Given the description of an element on the screen output the (x, y) to click on. 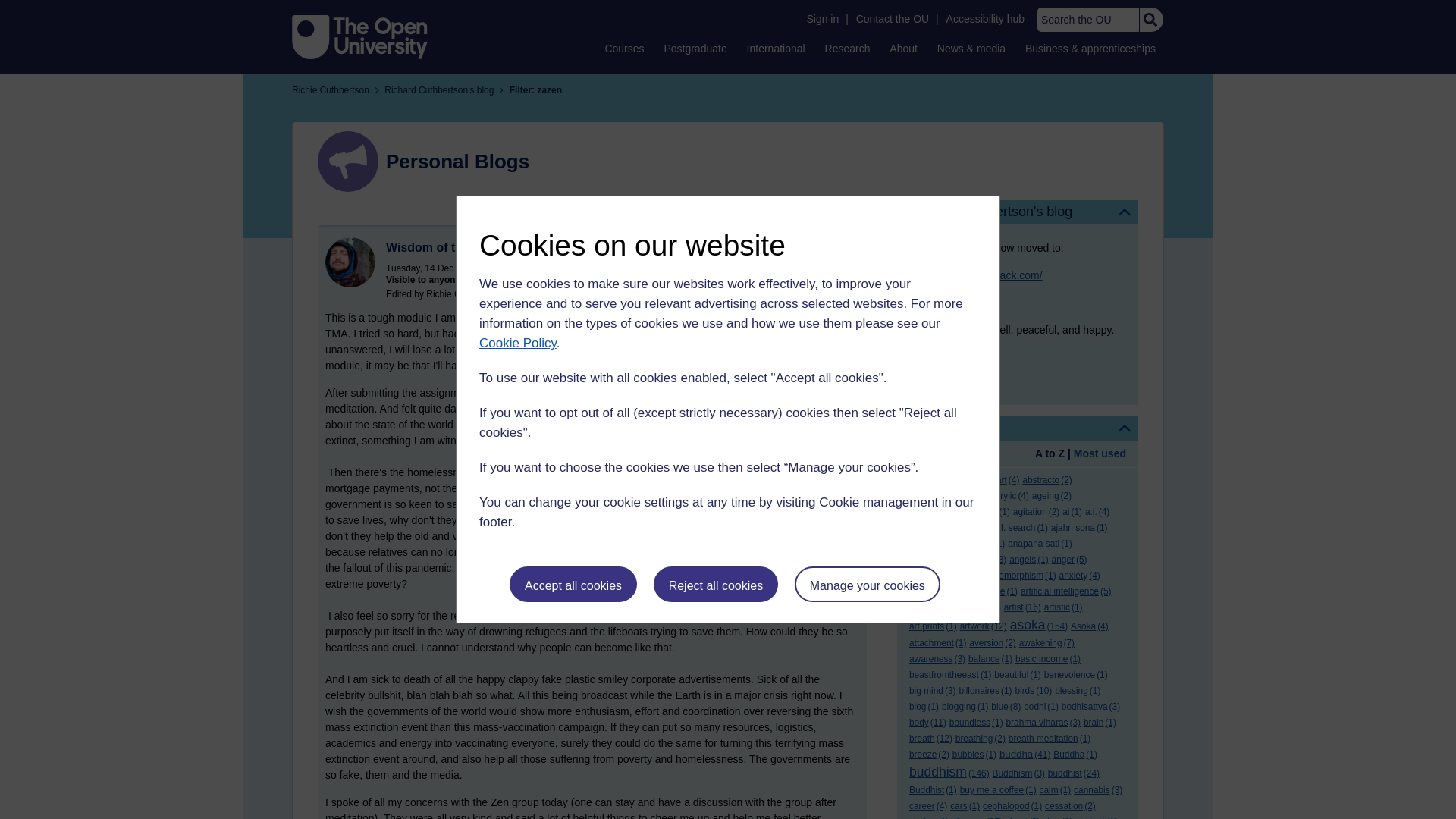
Tags (1017, 428)
Sign in (822, 19)
Postgraduate (695, 48)
Contact the OU (892, 19)
Manage your cookies (867, 583)
About (903, 48)
Accept all cookies (573, 583)
Accessibility hub (985, 19)
Courses (623, 48)
Help with Order: (951, 454)
Cookie Policy (517, 342)
Richard Cuthbertson's blog (1017, 211)
Research (847, 48)
Search (1149, 19)
The Open University (360, 36)
